Given the description of an element on the screen output the (x, y) to click on. 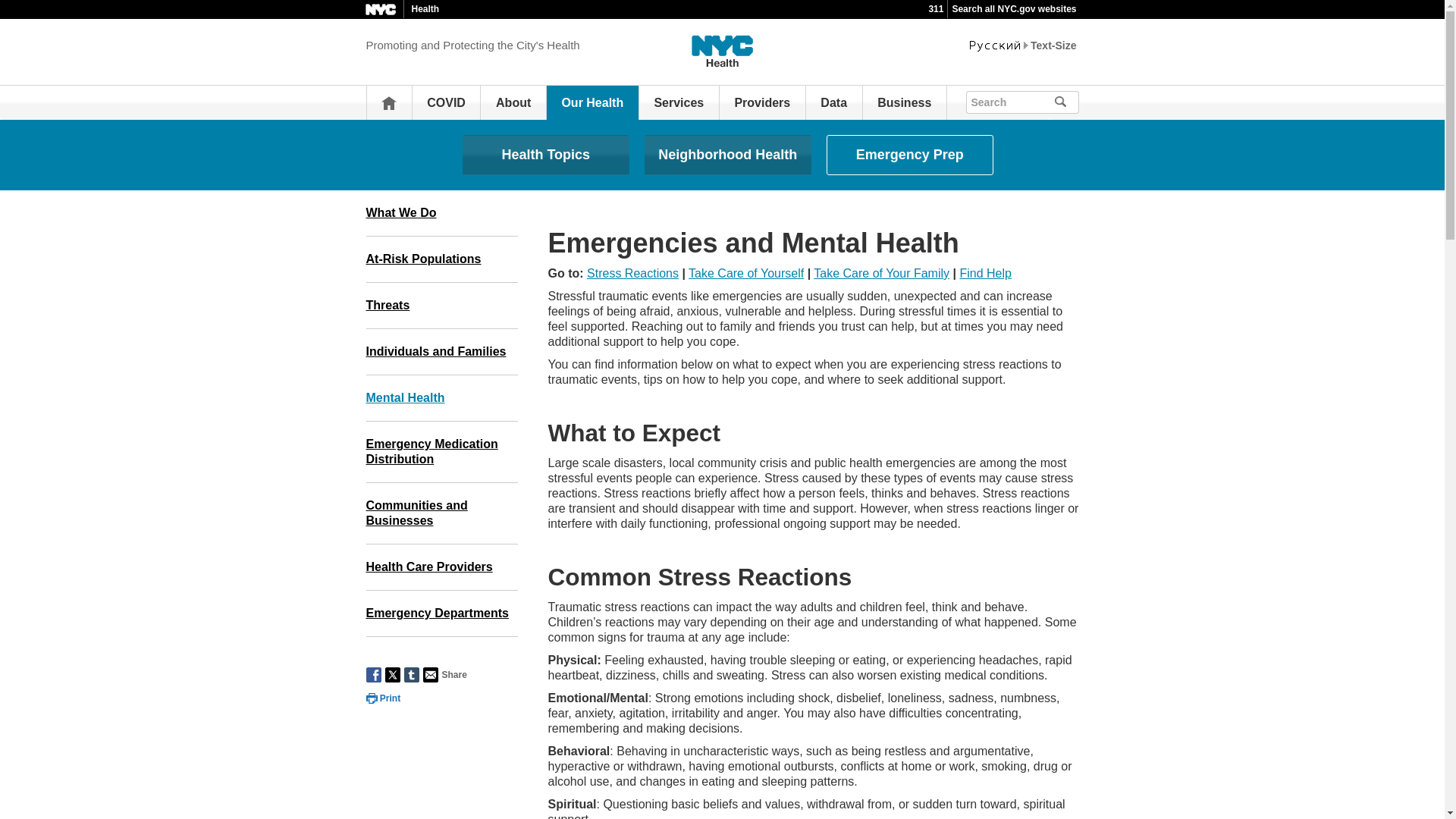
Individuals and Families (440, 352)
Take Care of Your Family (881, 273)
Search all NYC.gov websites (1013, 9)
311 (935, 9)
Emergency Departments (440, 613)
submit (1066, 101)
Health Care Providers (440, 567)
Our Health (591, 102)
About (513, 102)
submit (1066, 101)
